Given the description of an element on the screen output the (x, y) to click on. 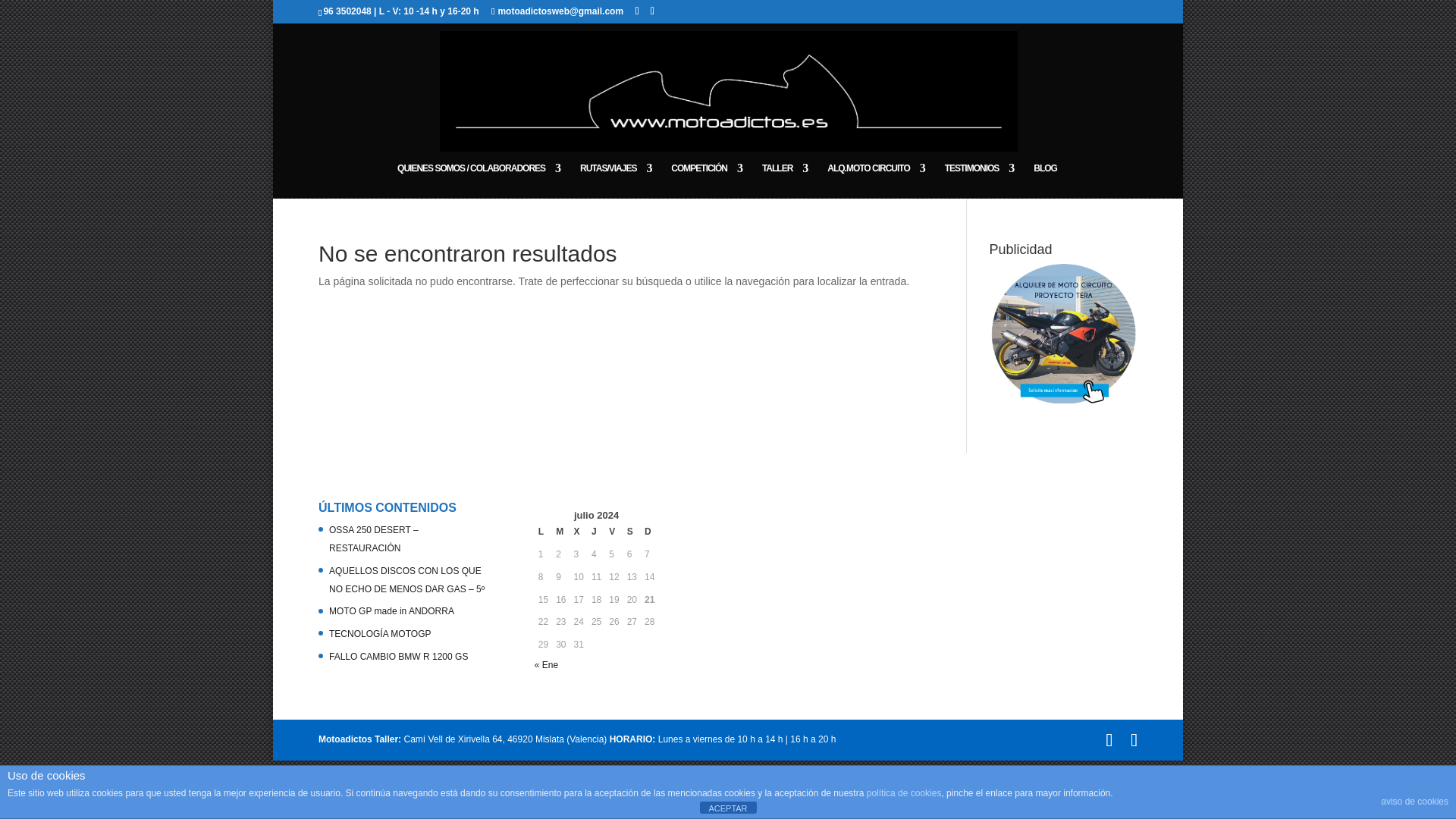
TALLER (784, 180)
fb:page Facebook Social Plugin (836, 583)
ALQ.MOTO CIRCUITO (875, 180)
TESTIMONIOS (979, 180)
advertisement (1063, 333)
